Given the description of an element on the screen output the (x, y) to click on. 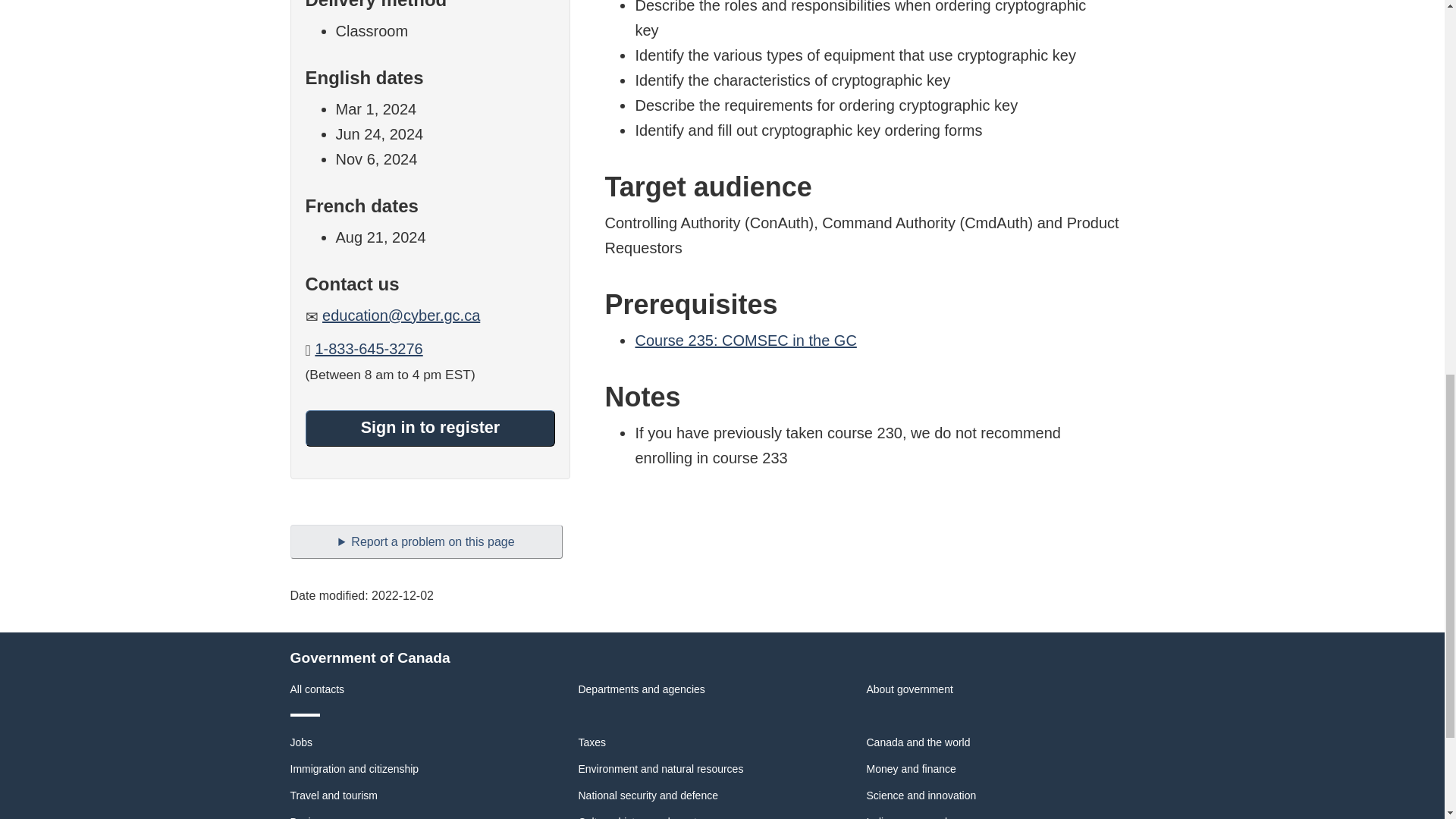
About government (909, 689)
Departments and agencies (641, 689)
Sign in to register (429, 428)
Immigration and citizenship (354, 768)
Jobs (301, 742)
1-833-645-3276 (368, 348)
All contacts (316, 689)
Course 235: COMSEC in the GC (745, 340)
